Given the description of an element on the screen output the (x, y) to click on. 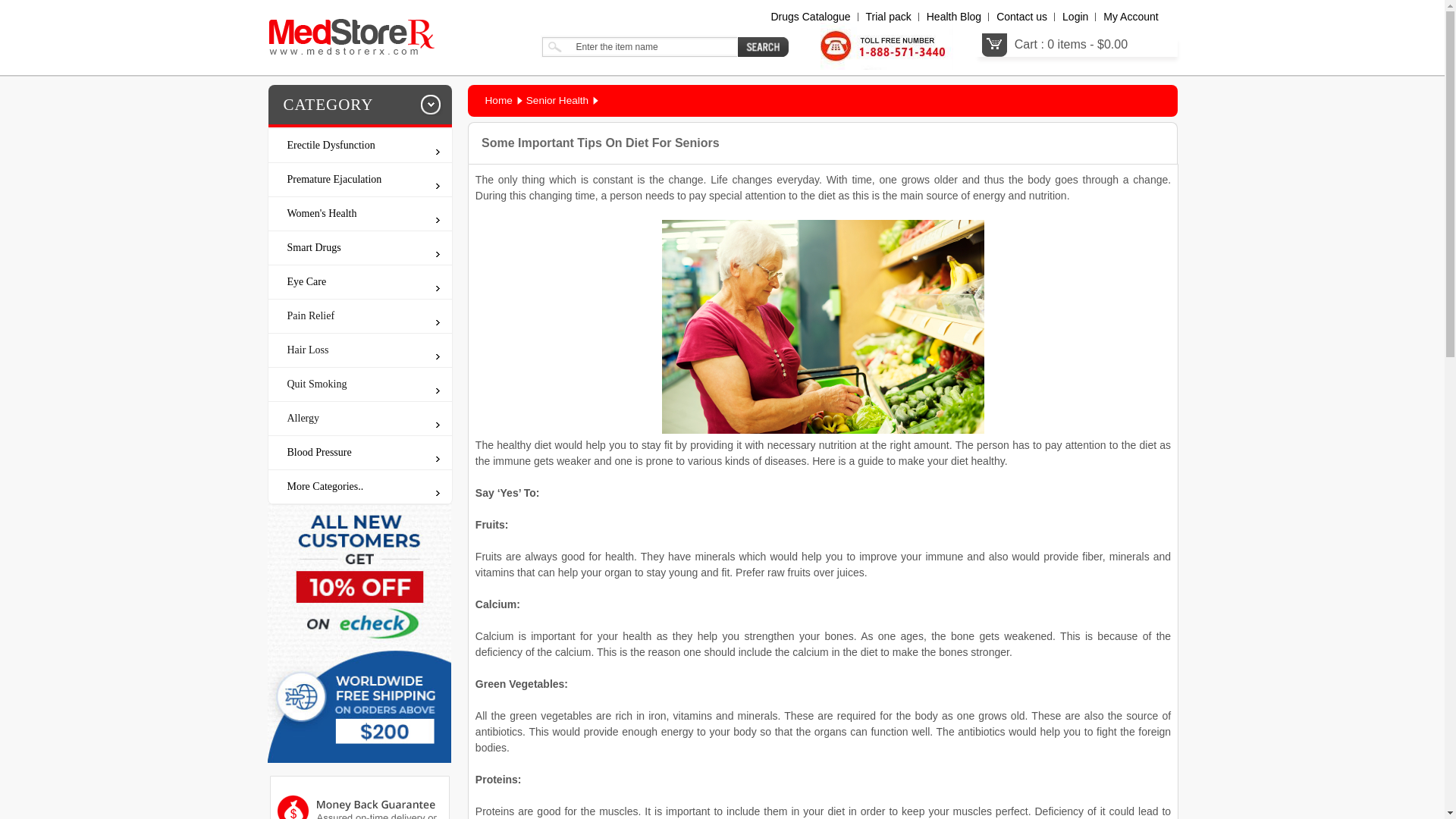
Login (1074, 16)
Health Blog (953, 16)
My Account (1130, 16)
Trial pack (888, 16)
Drugs Catalogue (810, 16)
Search (763, 46)
Contact us (1020, 16)
Enter the item name (638, 46)
